Given the description of an element on the screen output the (x, y) to click on. 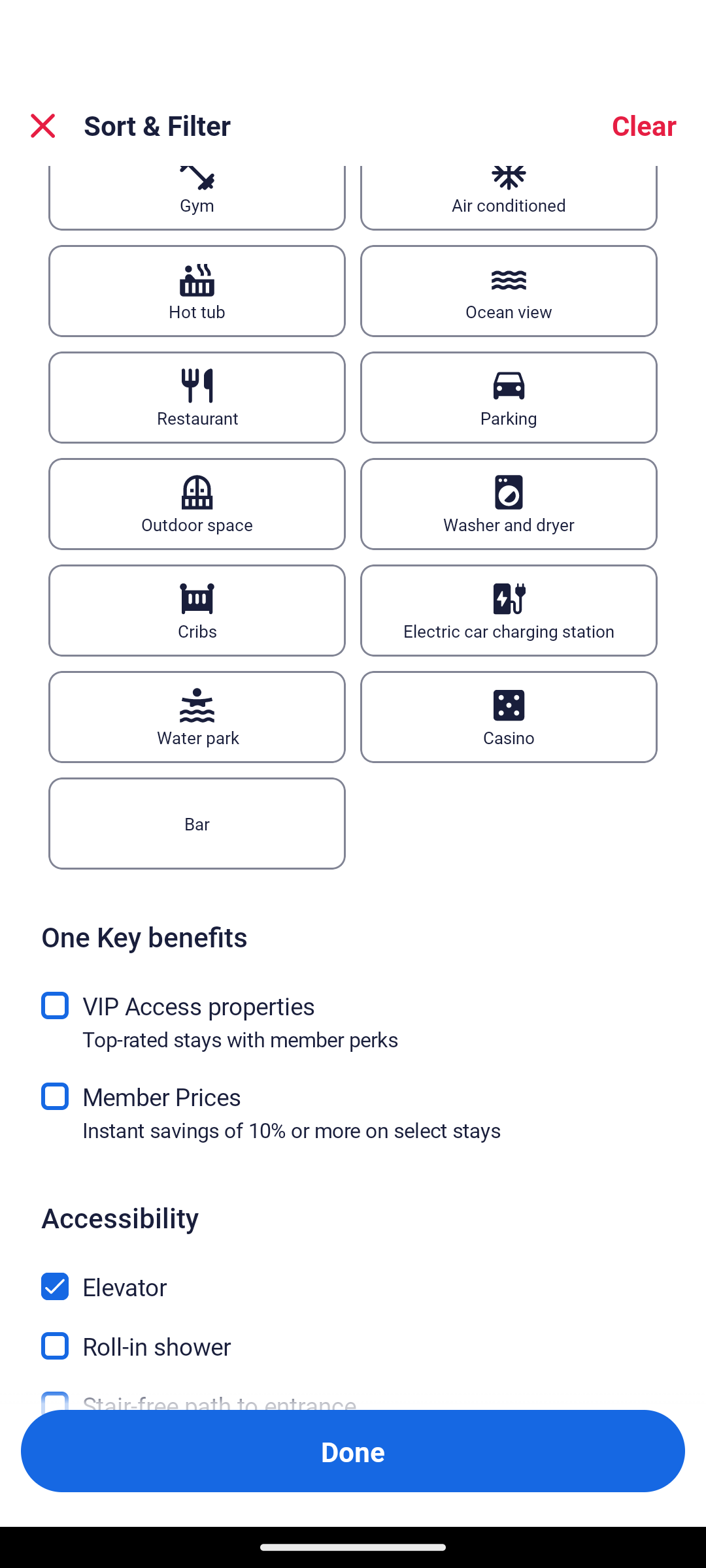
Clear (643, 125)
Close Sort and Filter (43, 125)
Gym (196, 198)
Air conditioned (508, 198)
Hot tub (196, 290)
Ocean view (508, 290)
Restaurant (196, 397)
Parking (508, 397)
Outdoor space (196, 503)
Washer and dryer (508, 503)
Cribs (196, 610)
Electric car charging station (508, 610)
Water park (196, 717)
Casino (508, 717)
Bar (196, 823)
Elevator, Elevator (352, 1275)
Roll-in shower, Roll-in shower (352, 1334)
Apply and close Sort and Filter Done (352, 1450)
